Given the description of an element on the screen output the (x, y) to click on. 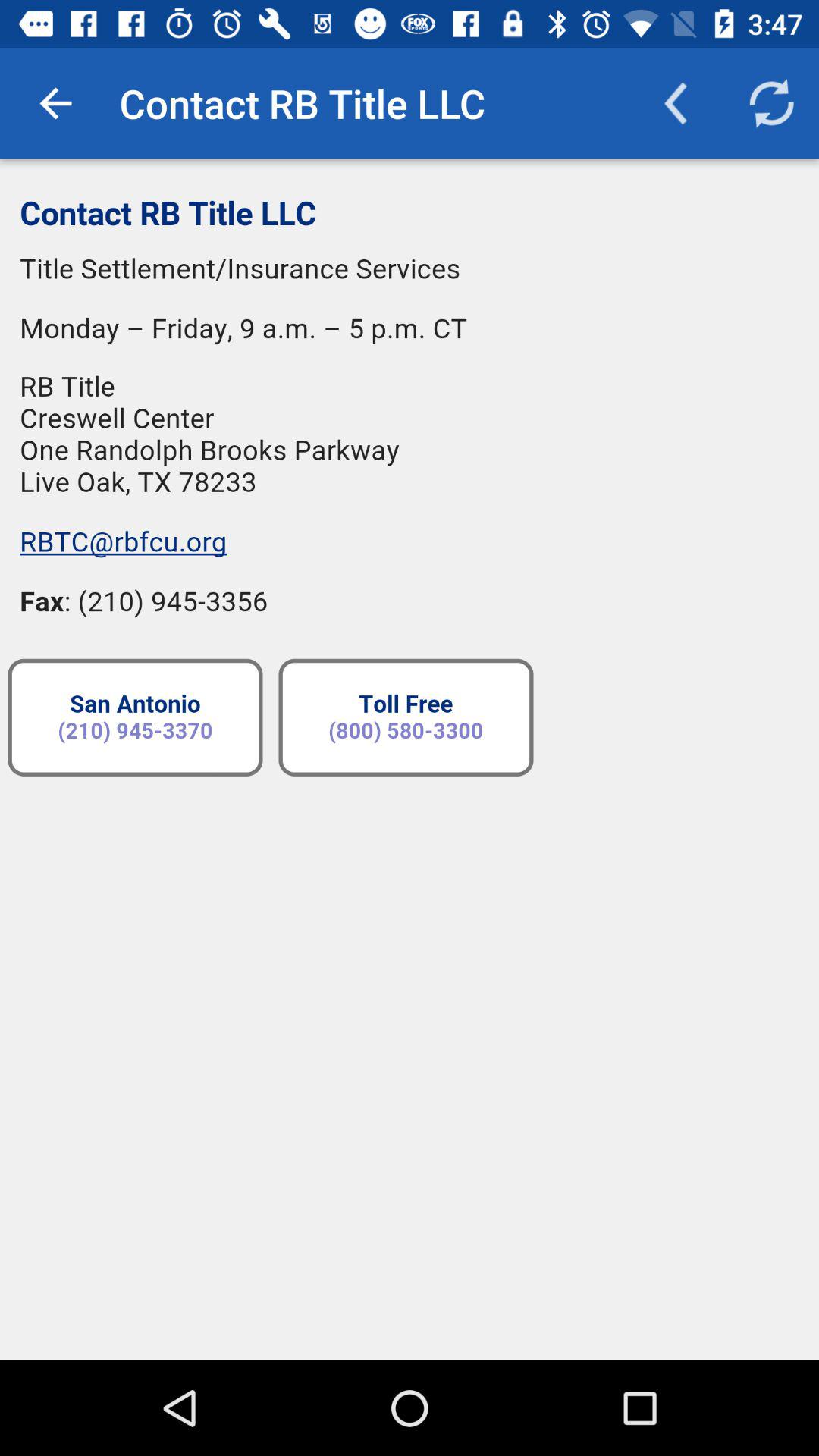
contact of title (409, 759)
